Given the description of an element on the screen output the (x, y) to click on. 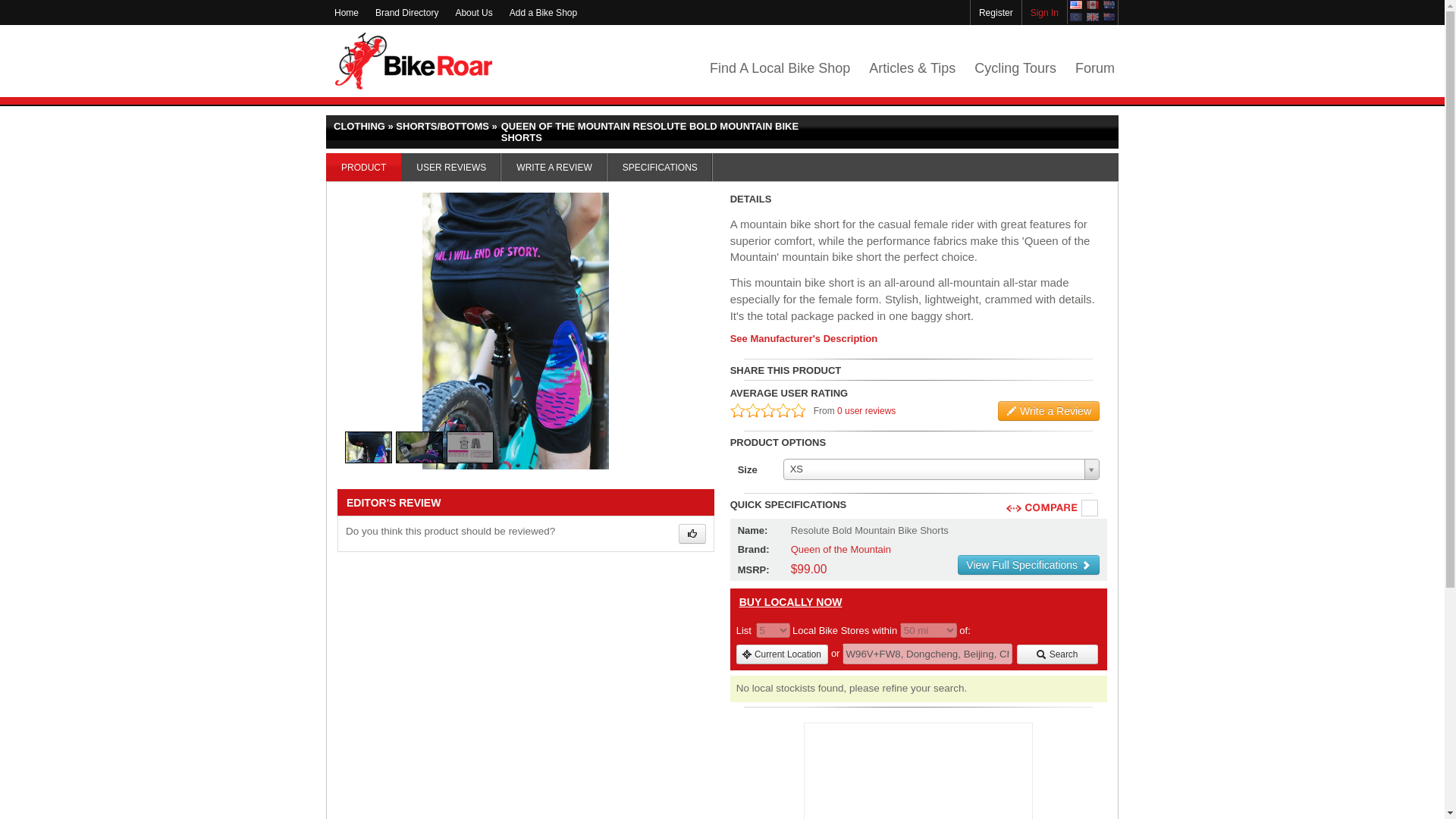
Current Location (782, 654)
Search (1056, 654)
Home (346, 12)
Explore cycling brands on BikeRoar (406, 12)
Queen of the Mountain (840, 549)
Find a local bike shop near you... (780, 68)
Chat with fellow cyclists in our Rider's Forum... (1095, 68)
Sign In (1044, 12)
Read our articles, tips and expert advice... (912, 68)
Register (996, 12)
Write a Review (1048, 410)
Find your perfect cycling adventure... (1015, 68)
USER REVIEWS (450, 166)
SPECIFICATIONS (660, 166)
Brand Directory (406, 12)
